Given the description of an element on the screen output the (x, y) to click on. 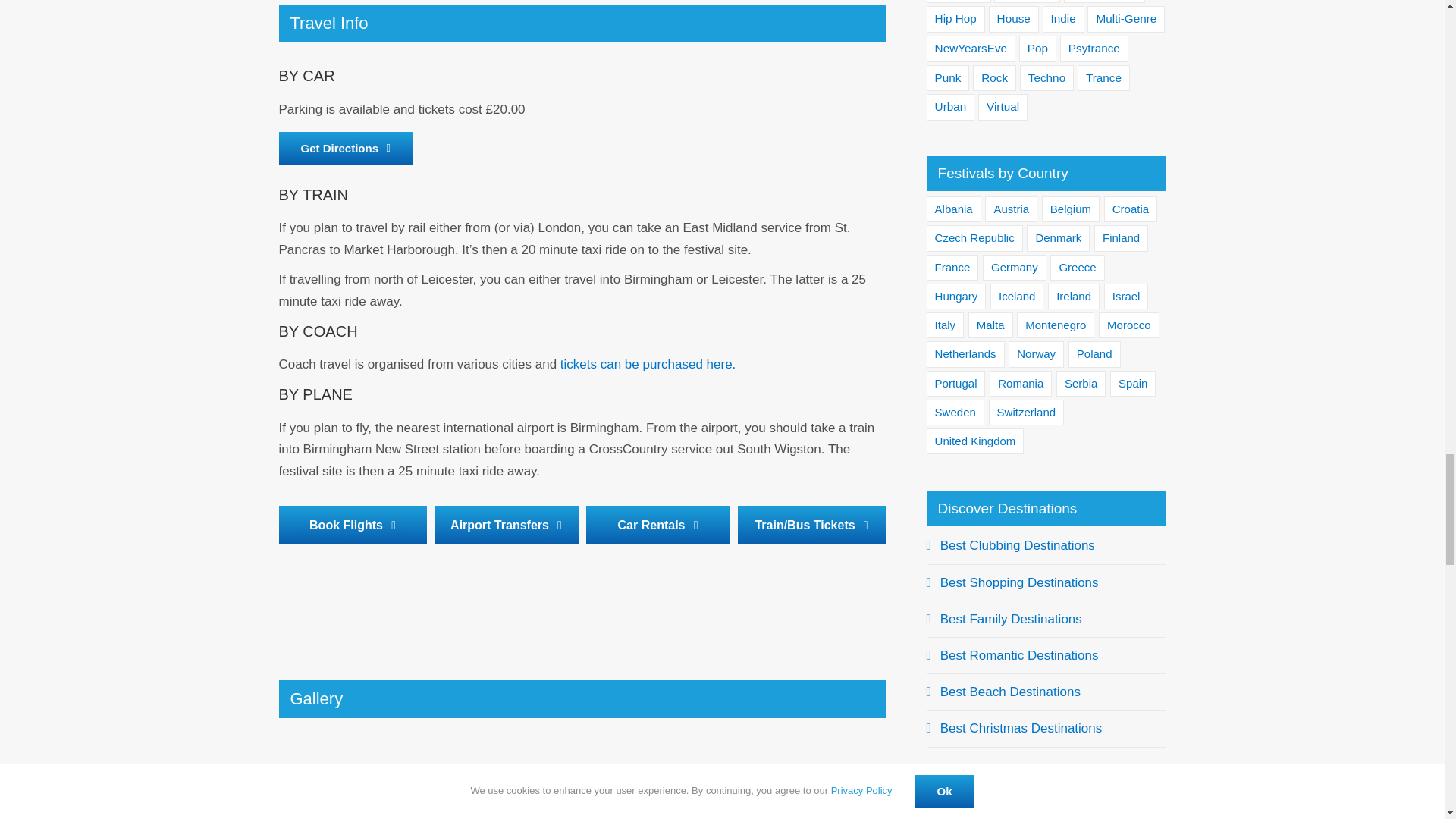
Gallery (582, 749)
noisily-festival-stage-lights-show (735, 783)
noisily-festival-stage-lights-fans-dancing (428, 783)
